Given the description of an element on the screen output the (x, y) to click on. 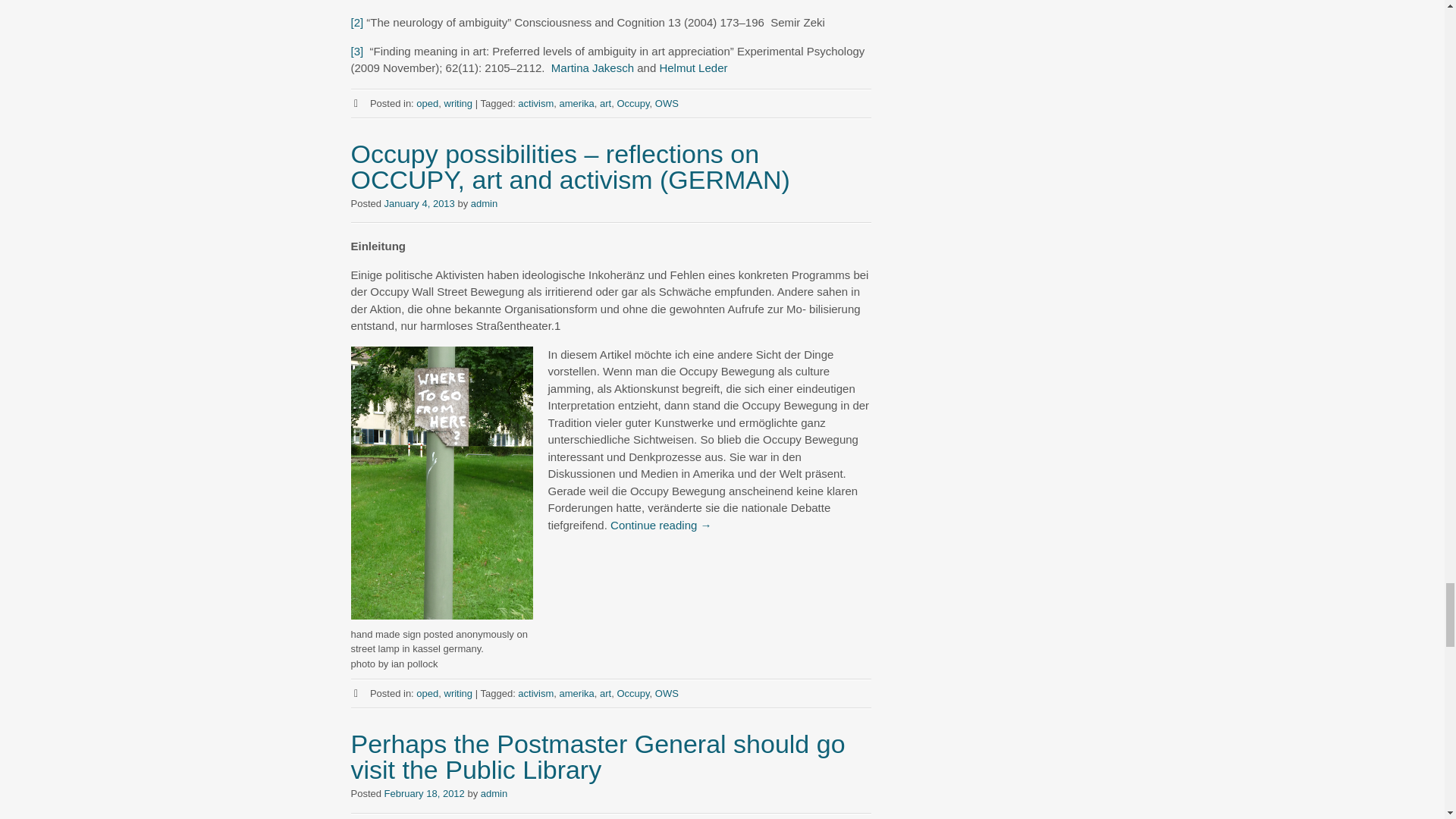
View all posts by admin (483, 202)
View all posts by admin (493, 793)
